Given the description of an element on the screen output the (x, y) to click on. 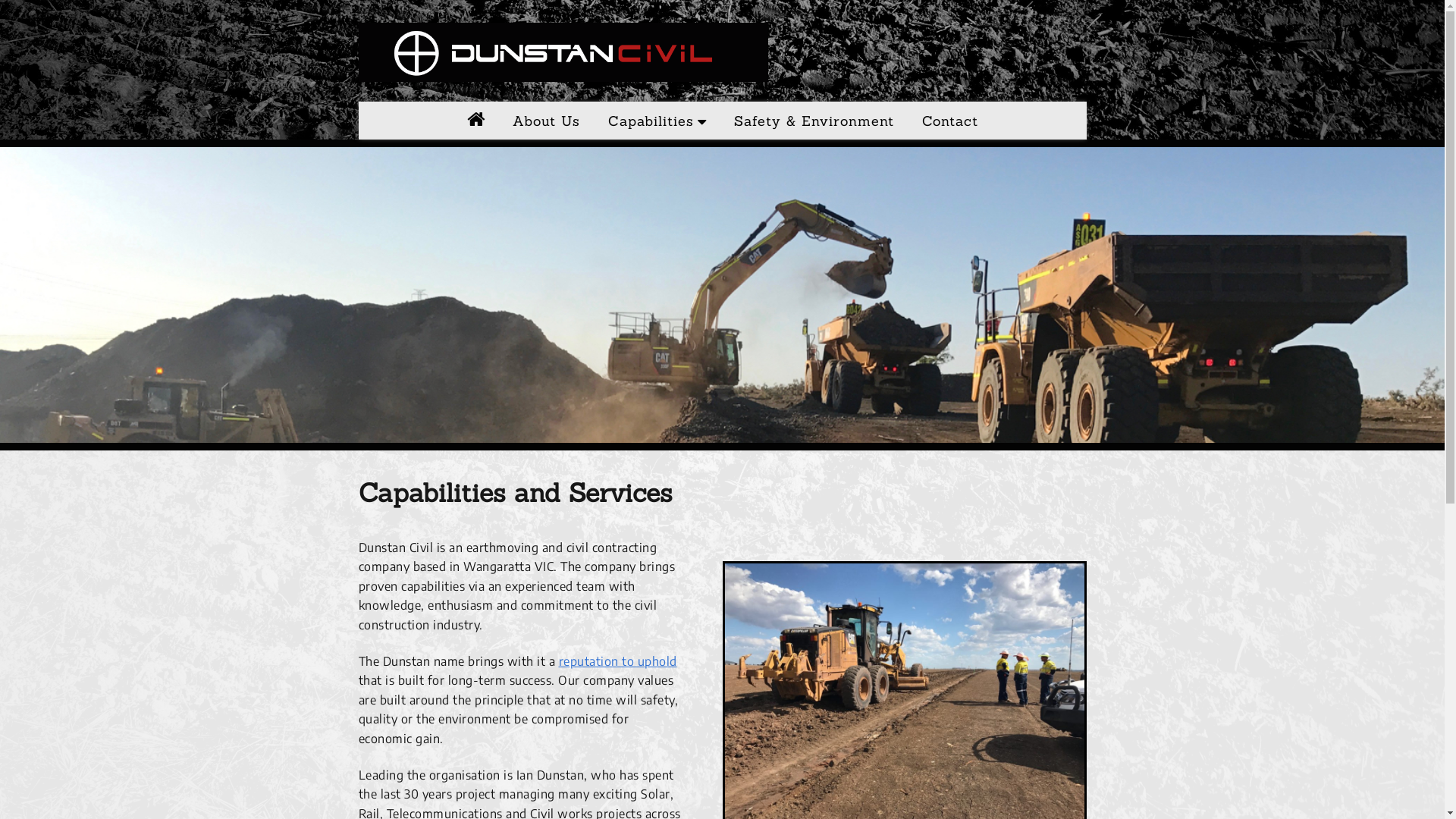
reputation to uphold Element type: text (617, 660)
Safety & Environment Element type: text (813, 120)
Capabilities Element type: text (657, 120)
Contact Element type: text (950, 120)
About Us Element type: text (546, 120)
